Given the description of an element on the screen output the (x, y) to click on. 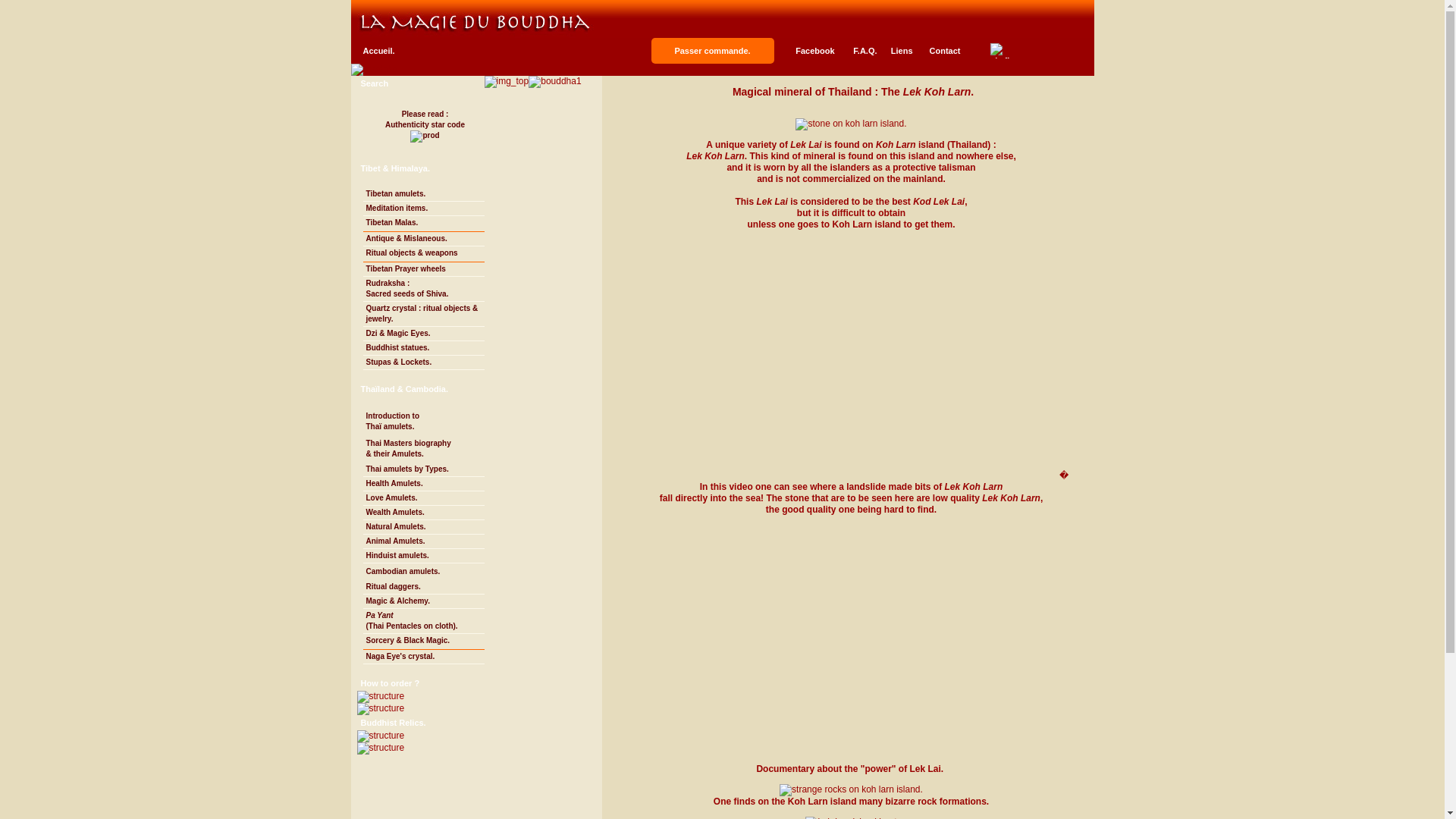
Naga Eye's crystal. (422, 657)
Buddhist statues. (422, 348)
How to order ? (390, 682)
Animal Amulets. (422, 541)
F.A.Q. (864, 50)
Passer commande. (711, 49)
Natural Amulets. (423, 125)
Love Amulets. (422, 527)
Thai amulets by Types. (422, 498)
